Given the description of an element on the screen output the (x, y) to click on. 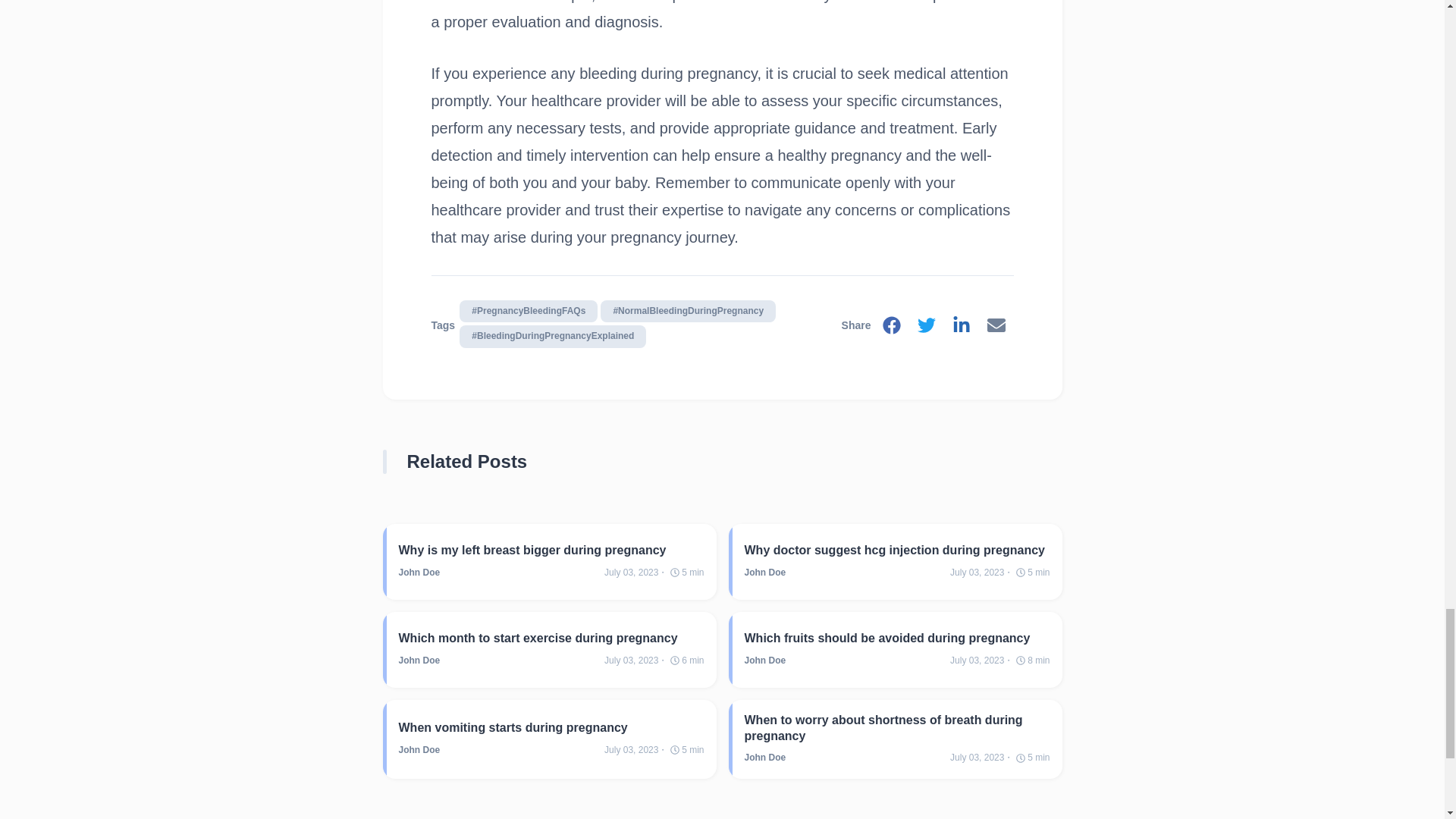
Which month to start exercise during pregnancy (551, 637)
John Doe (419, 572)
Why is my left breast bigger during pregnancy (551, 549)
John Doe (419, 749)
John Doe (765, 572)
Which fruits should be avoided during pregnancy (896, 637)
When to worry about shortness of breath during pregnancy (896, 727)
John Doe (765, 757)
When vomiting starts during pregnancy (551, 727)
Why doctor suggest hcg injection during pregnancy (896, 549)
